Given the description of an element on the screen output the (x, y) to click on. 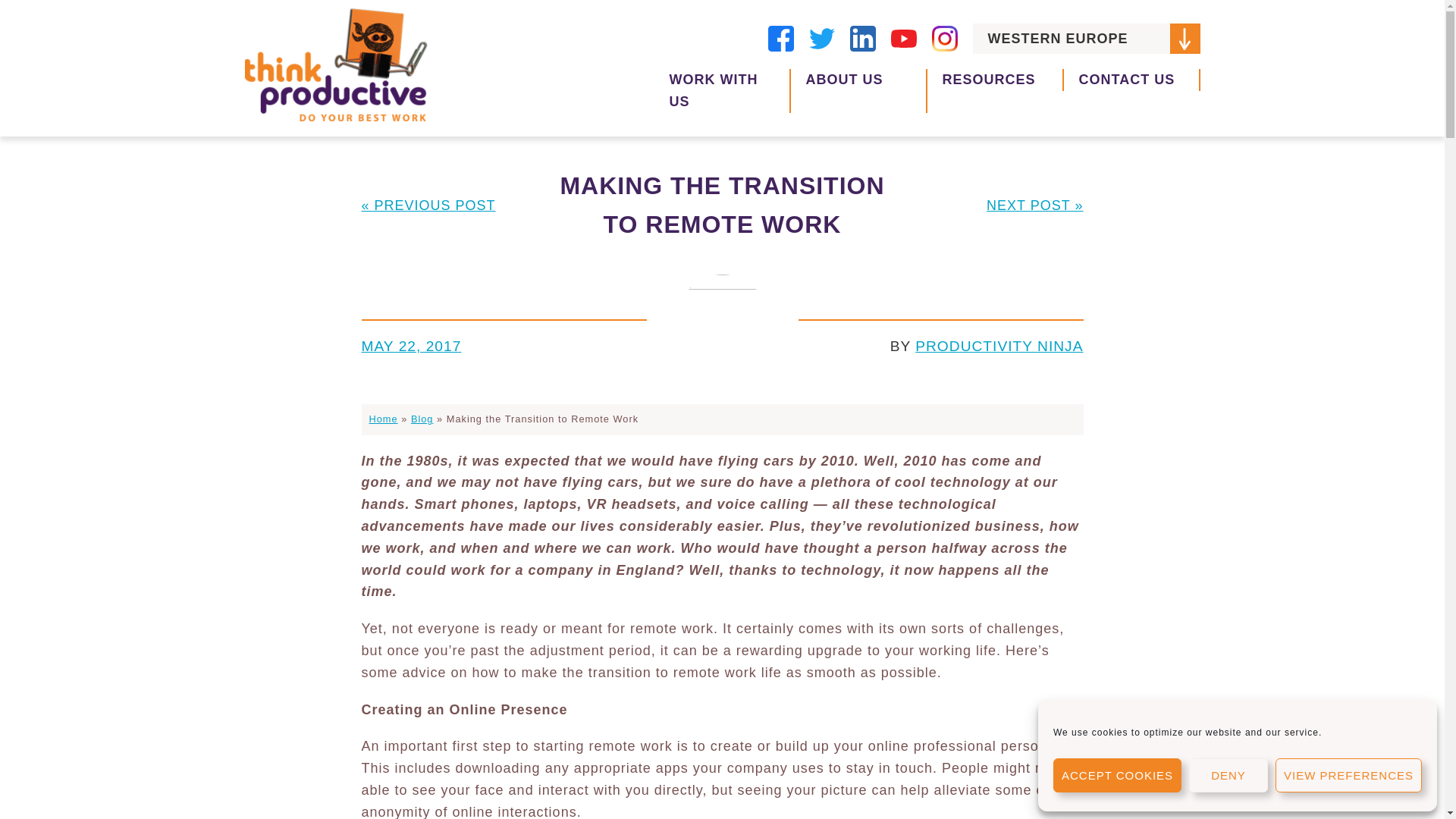
WORK WITH US              (721, 90)
VIEW PREFERENCES (1348, 775)
ABOUT US             (858, 90)
DENY (1228, 775)
ACCEPT COOKIES (1116, 775)
CONTACT US (1130, 79)
RESOURCES (994, 79)
